Given the description of an element on the screen output the (x, y) to click on. 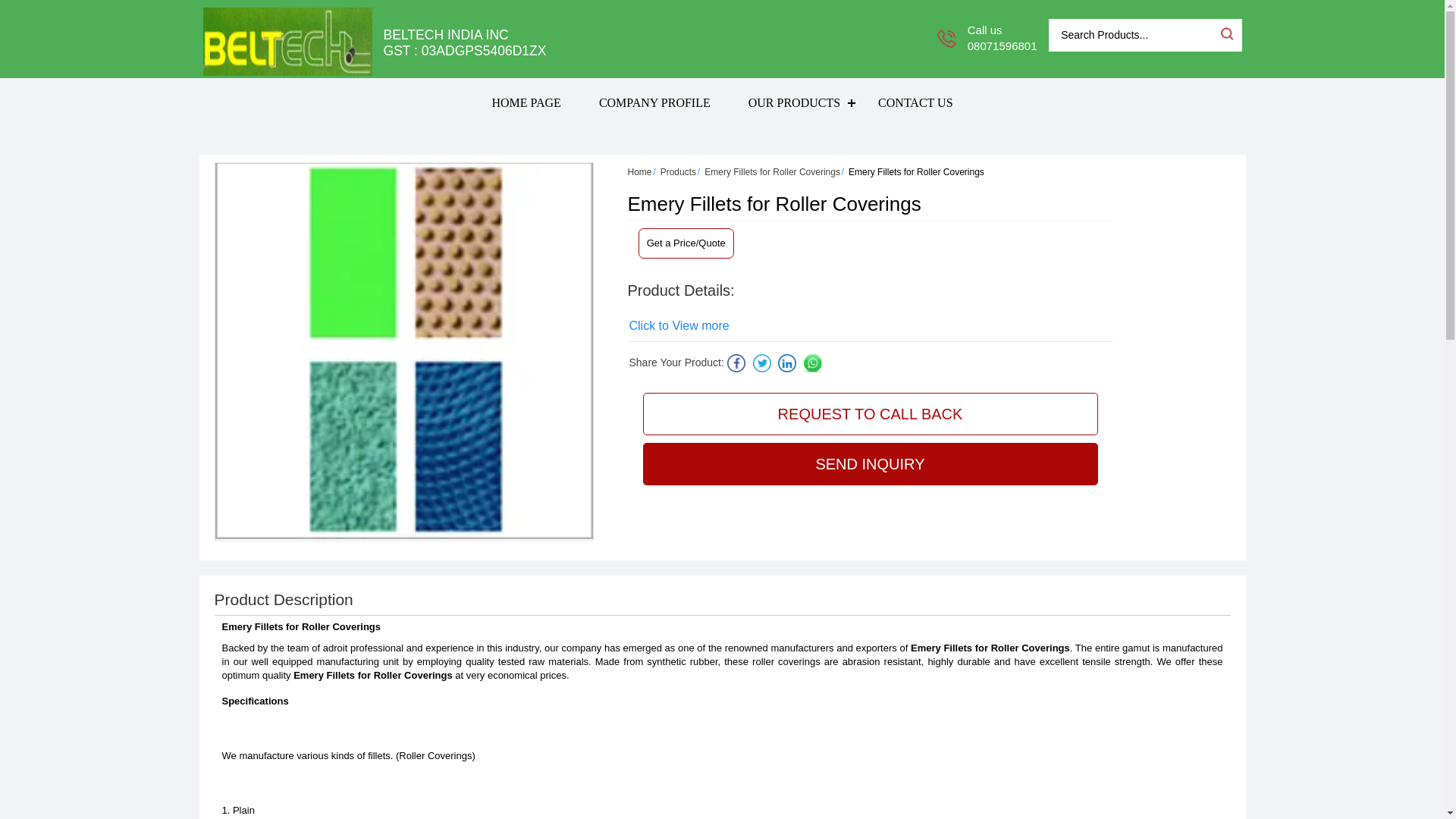
SEND INQUIRY (870, 464)
Emery Fillets for Roller Coverings (772, 172)
submit (1225, 33)
CONTACT US (915, 102)
COMPANY PROFILE (654, 102)
Click to View more (678, 325)
OUR PRODUCTS (794, 102)
Products (678, 172)
REQUEST TO CALL BACK (870, 413)
Search Products... (1133, 34)
